Given the description of an element on the screen output the (x, y) to click on. 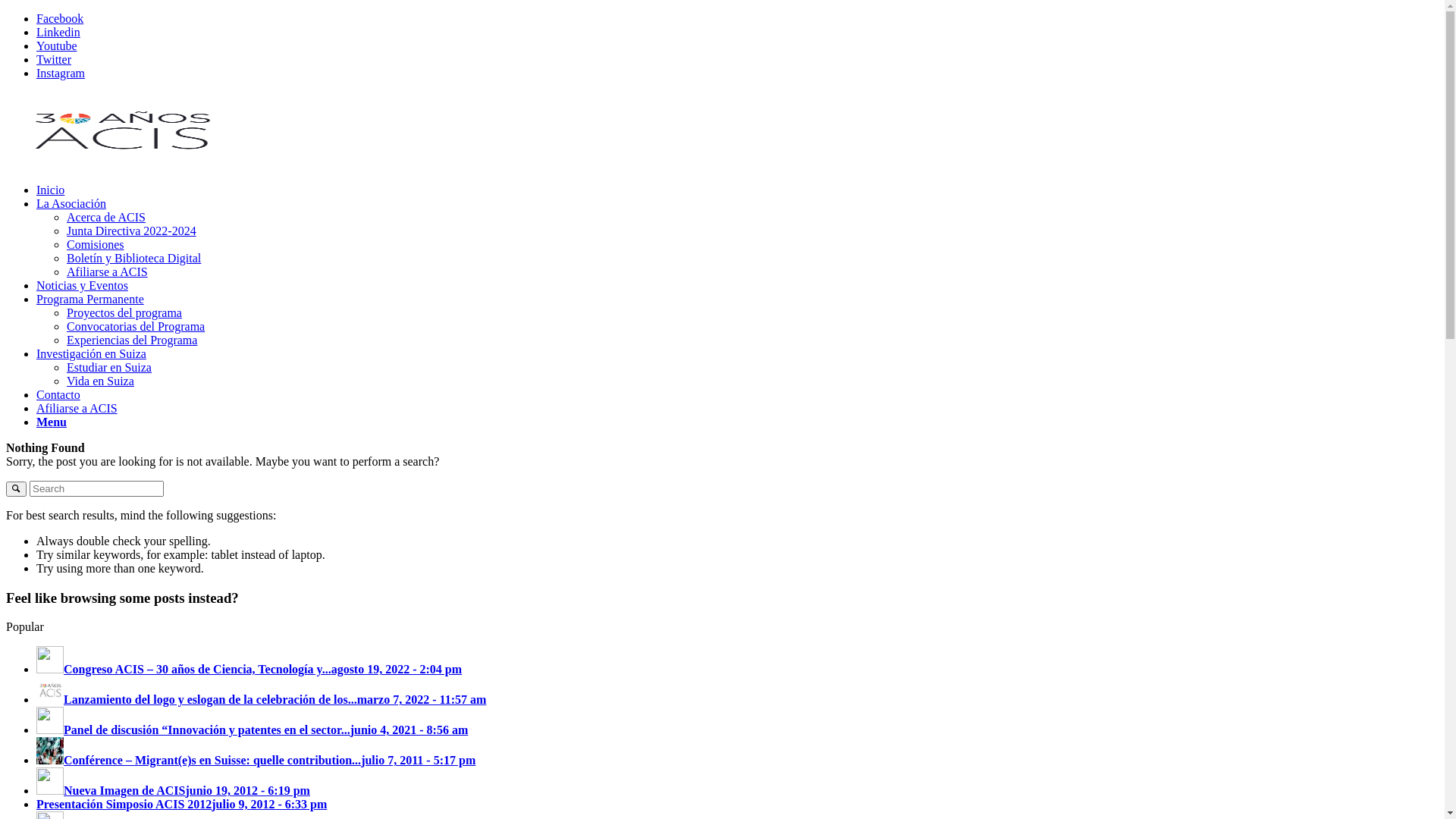
Experiencias del Programa Element type: text (131, 339)
Facebook Element type: text (59, 18)
Youtube Element type: text (56, 45)
Afiliarse a ACIS Element type: text (76, 407)
Nueva Imagen de ACISjunio 19, 2012 - 6:19 pm Element type: text (173, 790)
Estudiar en Suiza Element type: text (108, 366)
Comisiones Element type: text (95, 244)
Contacto Element type: text (58, 394)
Junta Directiva 2022-2024 Element type: text (131, 230)
Noticias y Eventos Element type: text (82, 285)
Inicio Element type: text (50, 189)
Vida en Suiza Element type: text (100, 380)
Instagram Element type: text (60, 72)
Convocatorias del Programa Element type: text (135, 326)
Proyectos del programa Element type: text (124, 312)
Acerca de ACIS Element type: text (105, 216)
Afiliarse a ACIS Element type: text (106, 271)
Twitter Element type: text (53, 59)
Linkedin Element type: text (58, 31)
Programa Permanente Element type: text (90, 298)
Menu Element type: text (51, 421)
